Given the description of an element on the screen output the (x, y) to click on. 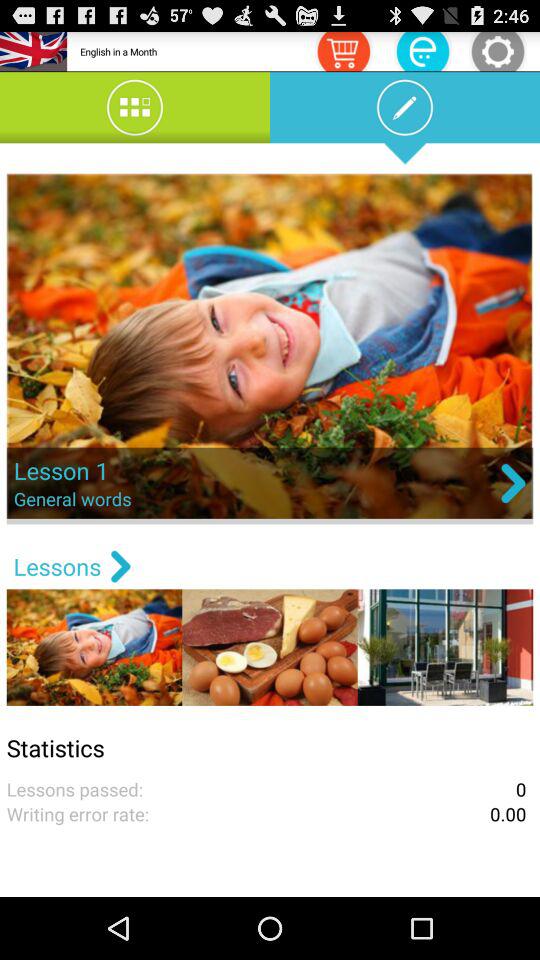
click to choose the image (269, 348)
